Given the description of an element on the screen output the (x, y) to click on. 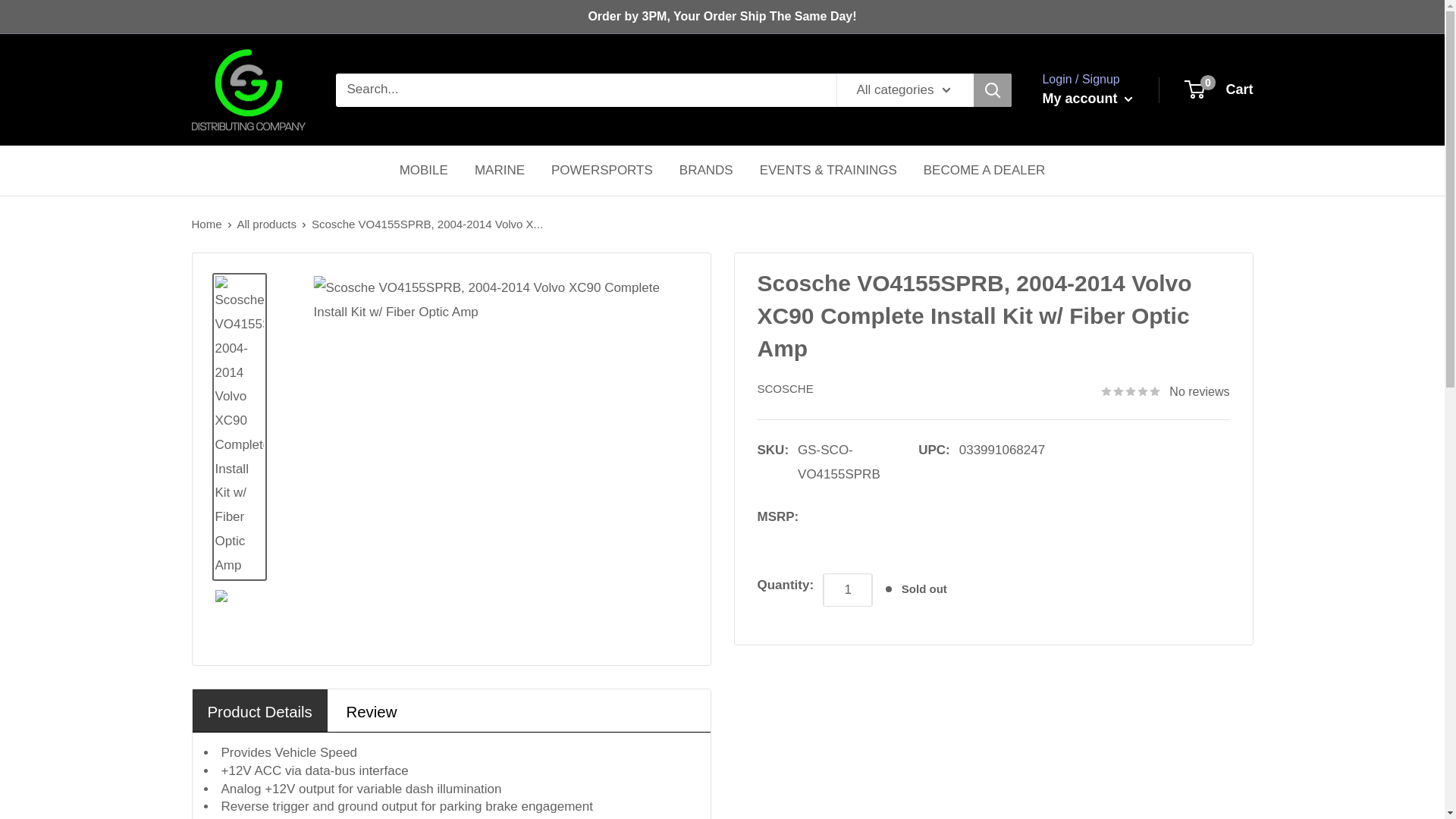
MOBILE (423, 170)
My account (1087, 99)
Home (205, 223)
POWERSPORTS (601, 170)
BECOME A DEALER (984, 170)
1 (848, 590)
BRANDS (1219, 89)
All products (706, 170)
GS Distributing (267, 223)
MARINE (247, 90)
